Given the description of an element on the screen output the (x, y) to click on. 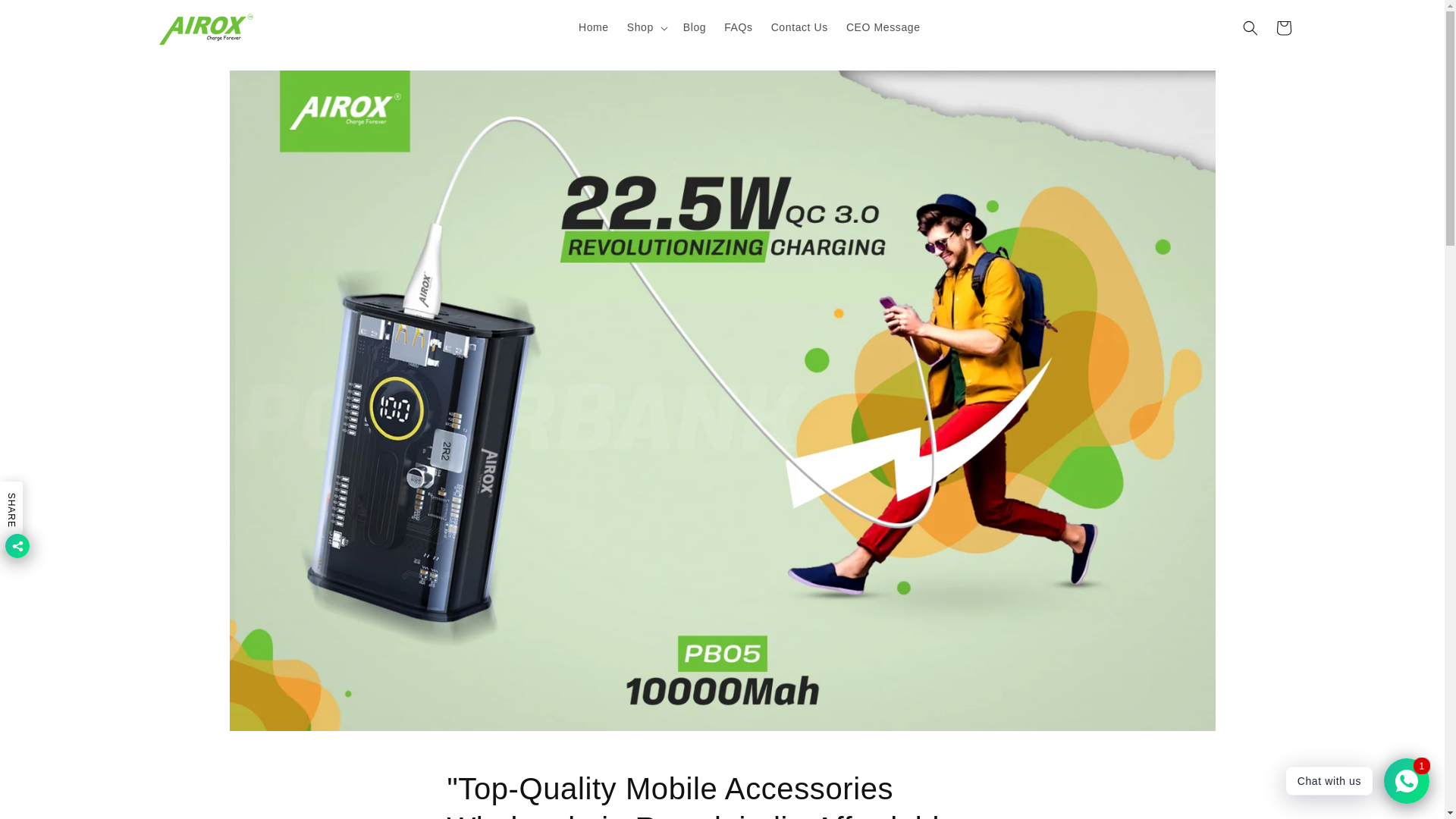
Blog (694, 27)
Contact Us (799, 27)
Home (593, 27)
FAQs (737, 27)
Skip to content (45, 17)
CEO Message (883, 27)
Cart (1283, 27)
